Given the description of an element on the screen output the (x, y) to click on. 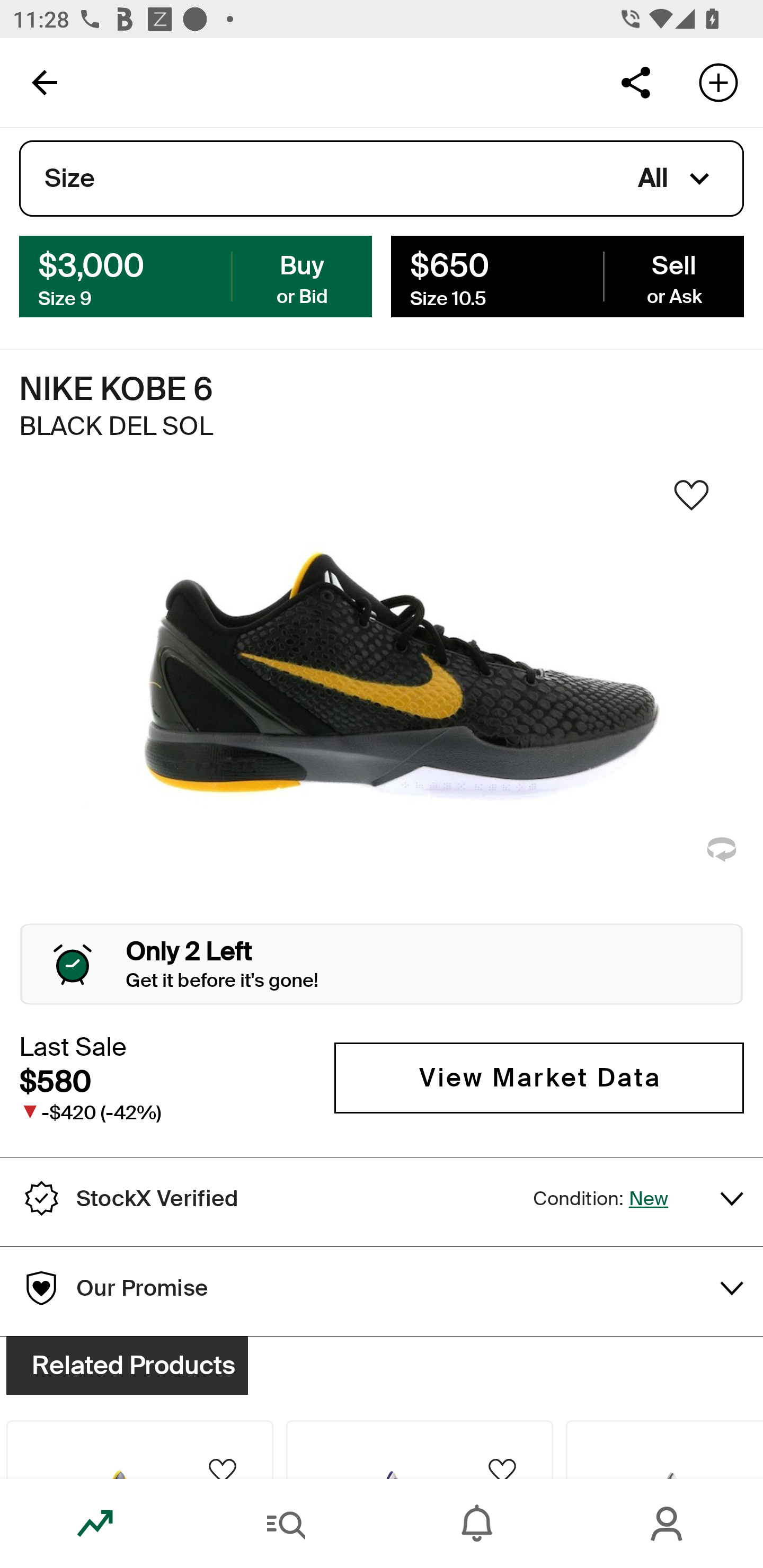
Share (635, 81)
Add (718, 81)
Size All (381, 178)
$238 Buy Size 5 or Bid (195, 275)
$469 Sell Size 12 or Ask (566, 275)
Sneaker Image (381, 699)
View Market Data (538, 1077)
Search (285, 1523)
Inbox (476, 1523)
Account (667, 1523)
